Given the description of an element on the screen output the (x, y) to click on. 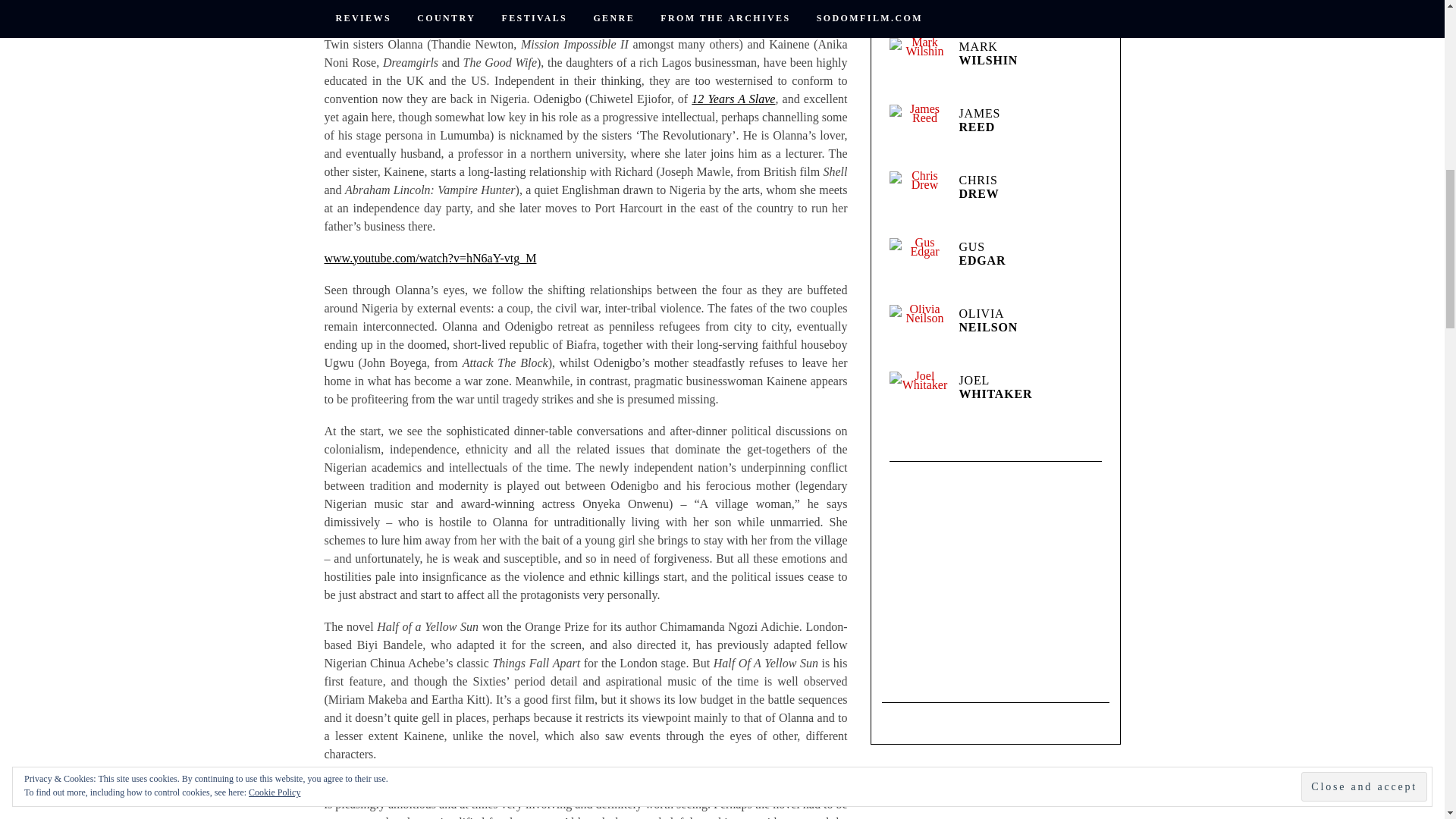
Olivia Neilson (917, 333)
Chris Drew (917, 200)
Gus Edgar (917, 267)
Mark Wilshin (917, 67)
Alexa Dalby (917, 15)
Joel Whitaker (917, 400)
James Reed (917, 133)
